Given the description of an element on the screen output the (x, y) to click on. 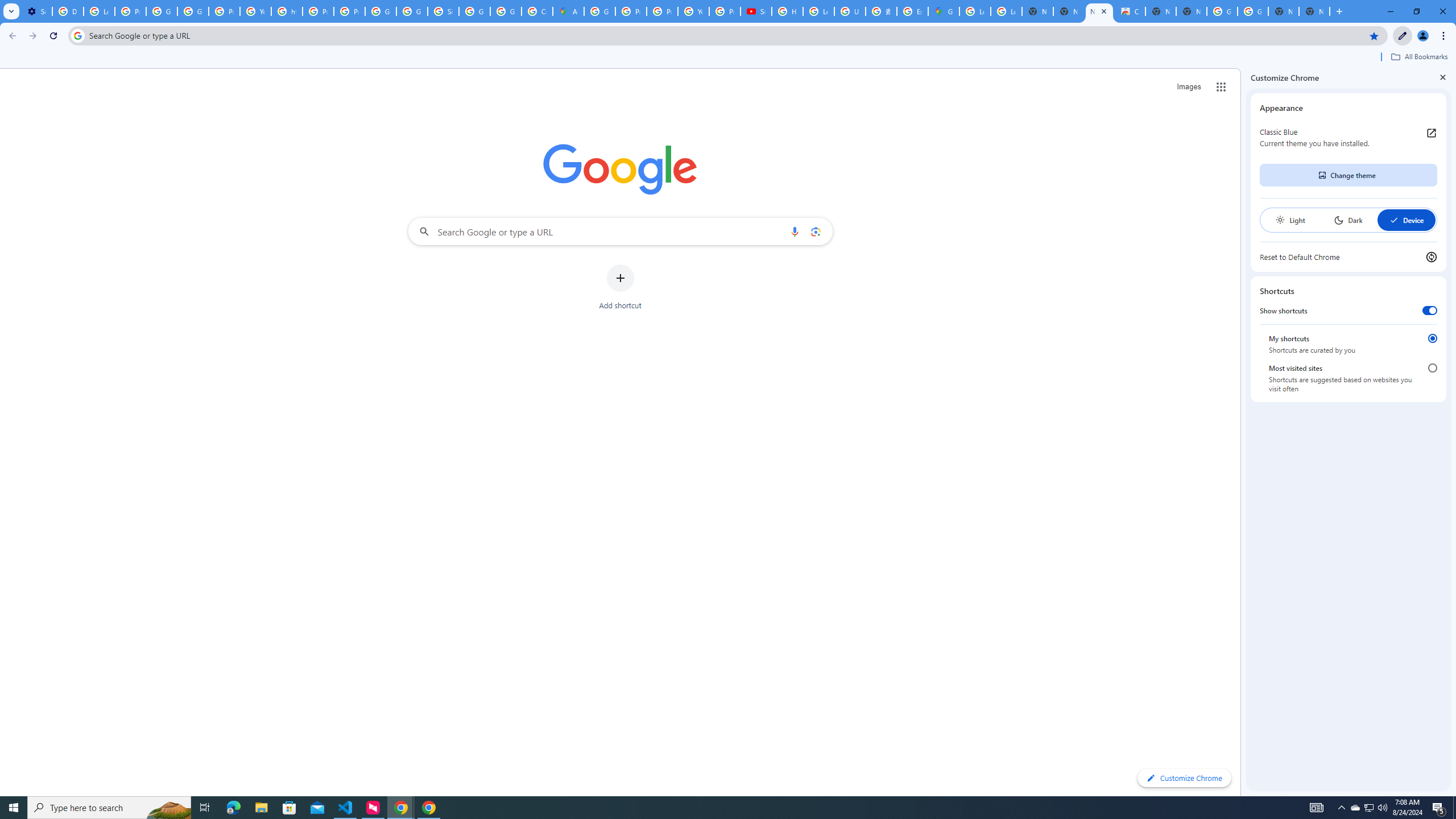
Settings - Performance (36, 11)
My shortcuts (1432, 338)
YouTube (255, 11)
Change theme (1348, 174)
